Given the description of an element on the screen output the (x, y) to click on. 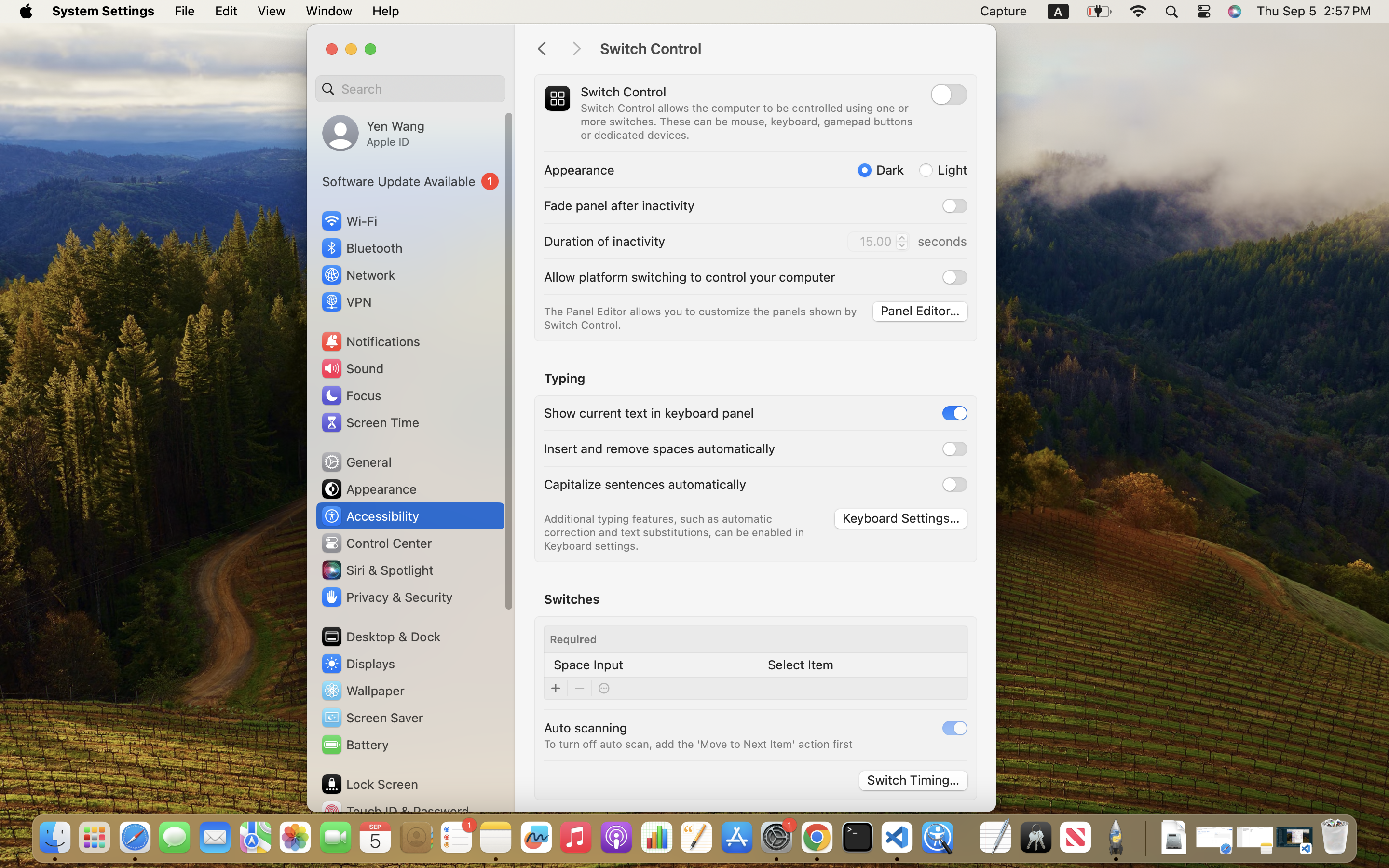
seconds Element type: AXStaticText (941, 240)
